Given the description of an element on the screen output the (x, y) to click on. 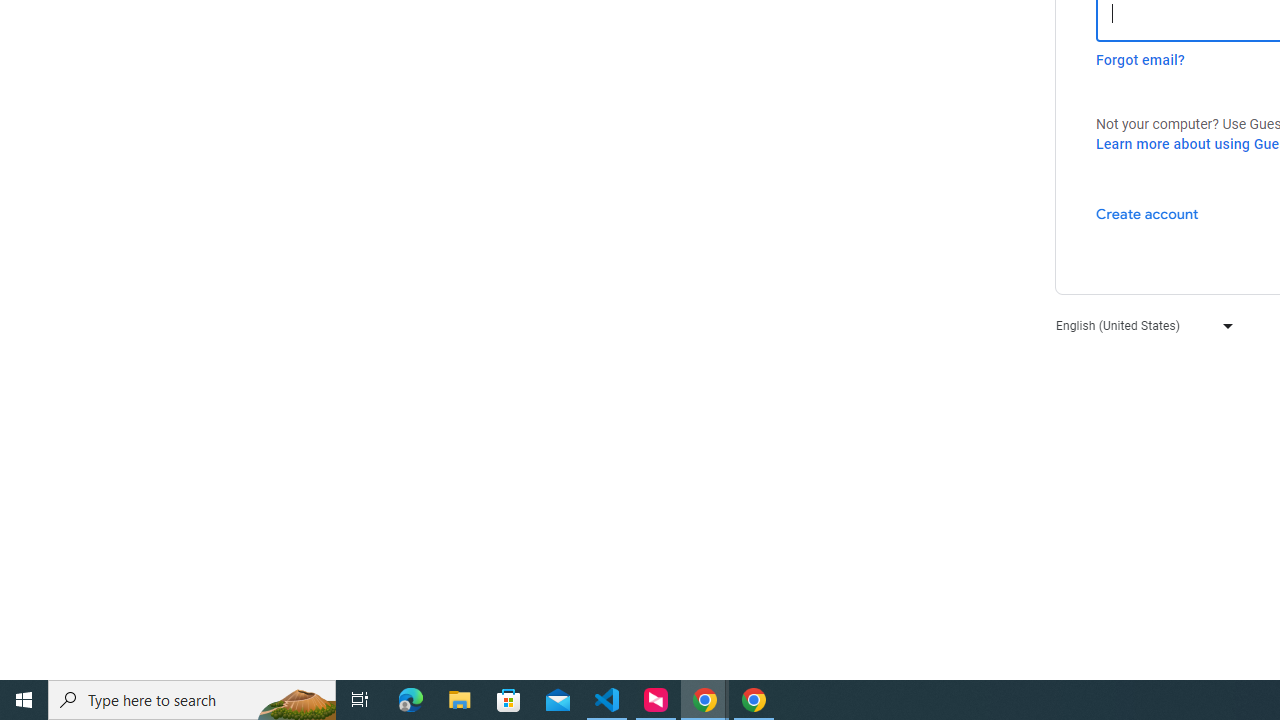
English (United States) (1139, 324)
Forgot email? (1140, 59)
Create account (1146, 213)
